Given the description of an element on the screen output the (x, y) to click on. 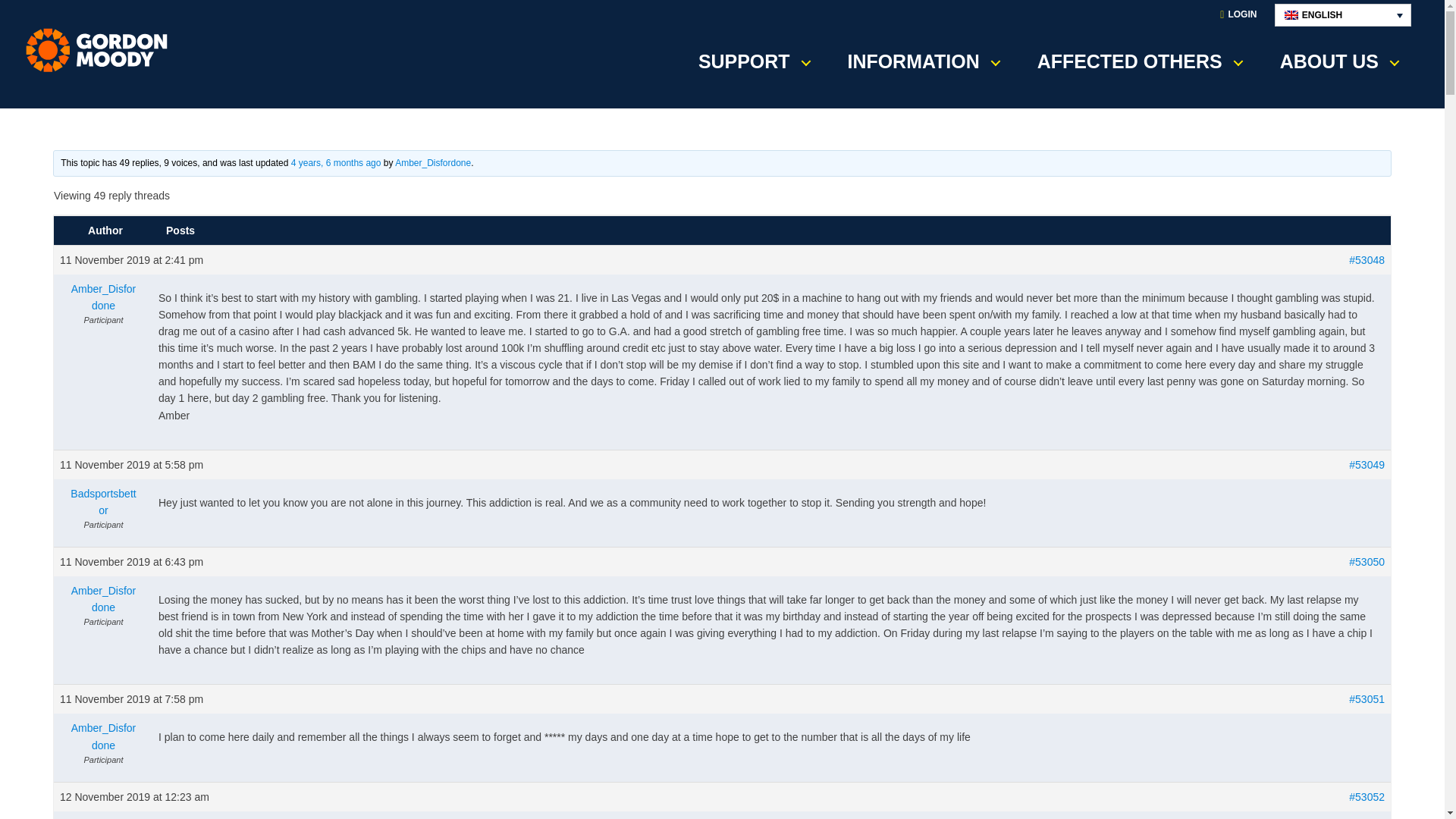
View Badsportsbettor's profile (103, 818)
LOGIN (1238, 15)
View Badsportsbettor's profile (103, 501)
Gordon Moody (101, 50)
ENGLISH (1342, 15)
New year new me (336, 163)
